Given the description of an element on the screen output the (x, y) to click on. 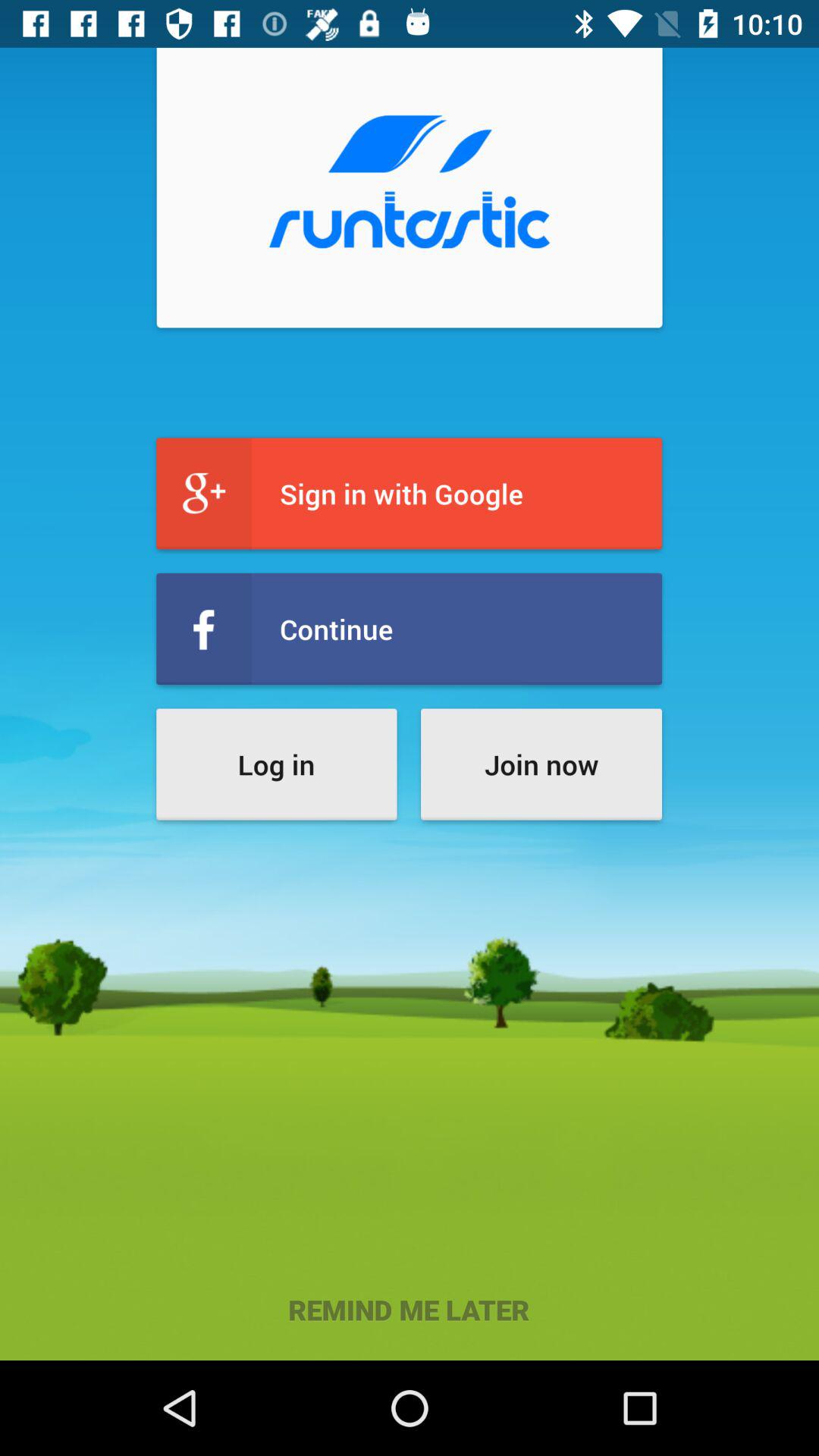
swipe until the remind me later icon (409, 1309)
